Given the description of an element on the screen output the (x, y) to click on. 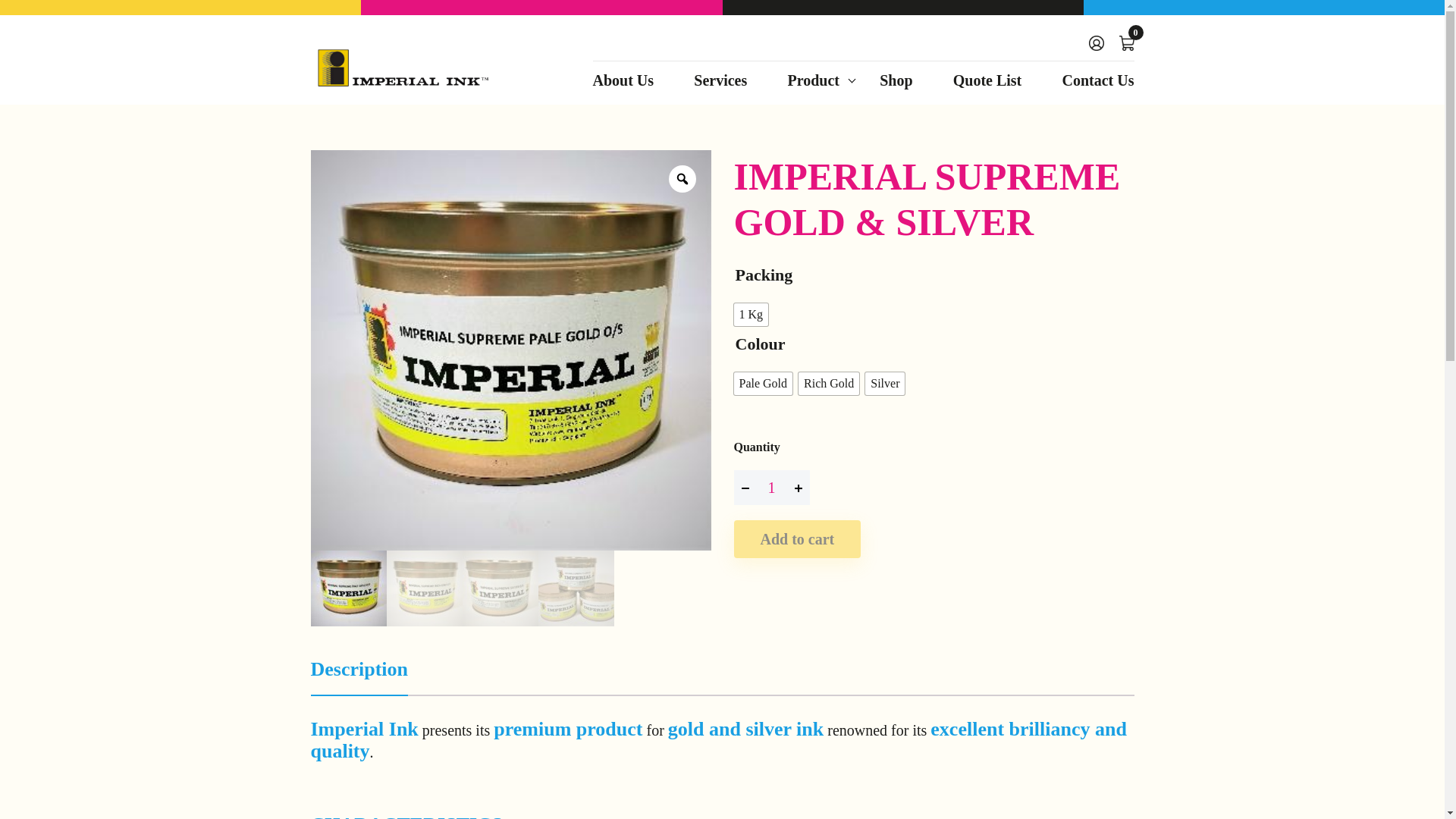
Quote List (986, 87)
Shop (895, 87)
Description (360, 673)
About Us (630, 87)
Services (719, 87)
Contact Us (1090, 87)
image47 (155, 308)
Product (812, 87)
Contact Us (1090, 87)
Services (719, 87)
Quote List (986, 87)
About Us (630, 87)
Product (812, 87)
Shop (895, 87)
Add to cart (797, 538)
